Given the description of an element on the screen output the (x, y) to click on. 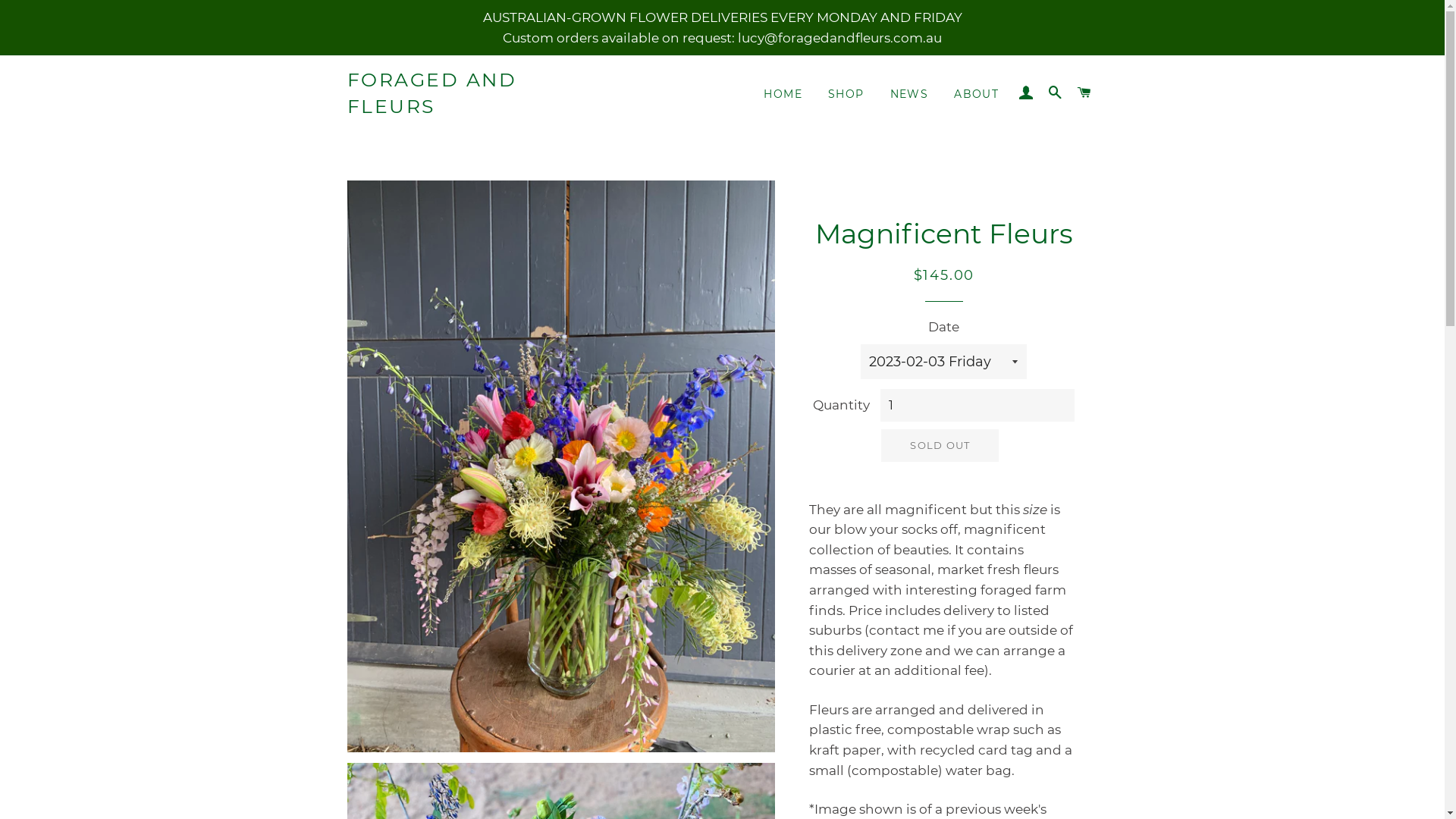
HOME Element type: text (782, 94)
LOG IN Element type: text (1025, 93)
SOLD OUT Element type: text (939, 445)
FORAGED AND FLEURS Element type: text (472, 92)
SHOP Element type: text (845, 94)
SEARCH Element type: text (1055, 93)
ABOUT Element type: text (976, 94)
CART Element type: text (1084, 93)
NEWS Element type: text (909, 94)
